Given the description of an element on the screen output the (x, y) to click on. 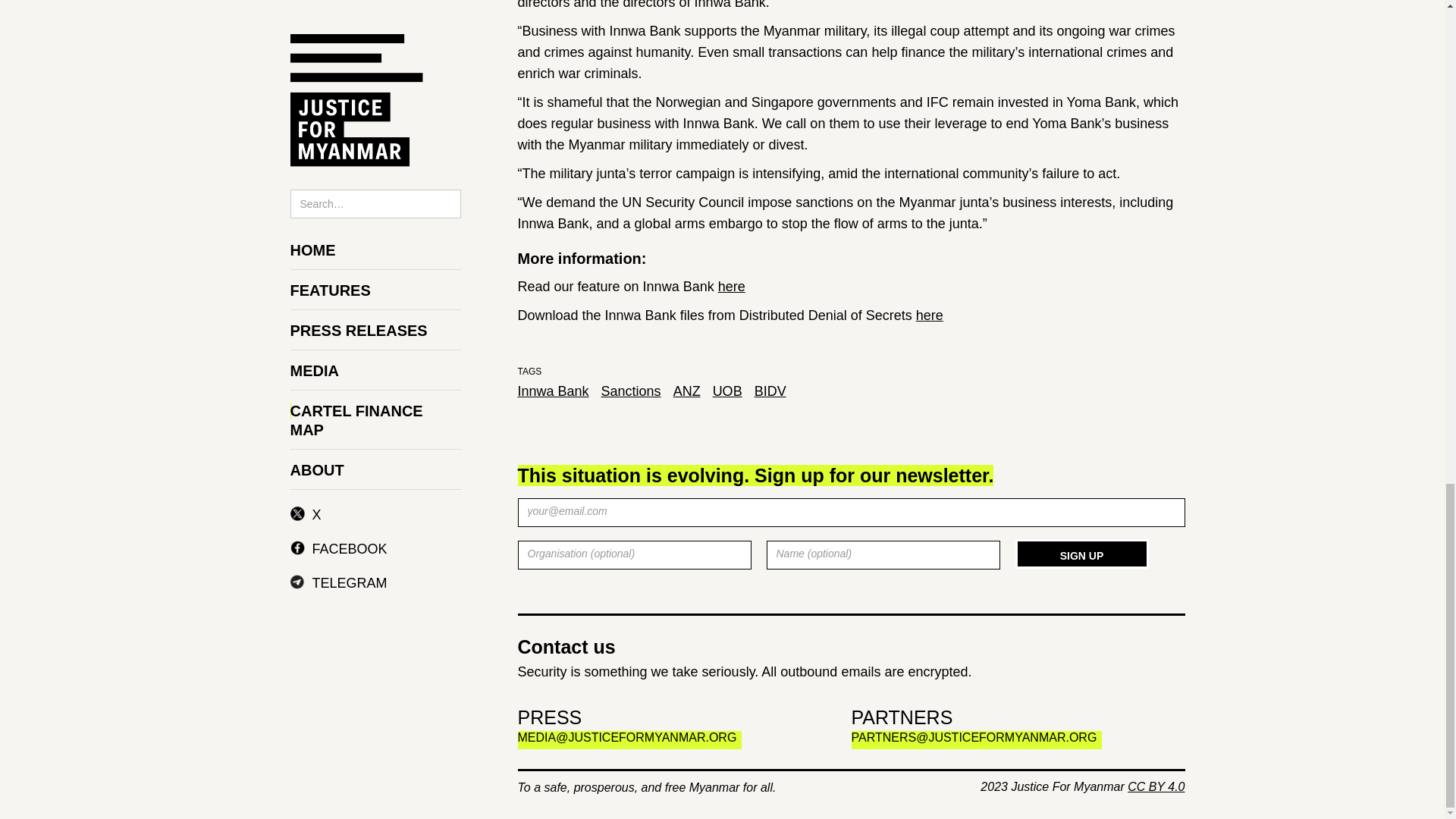
Sanctions (631, 391)
UOB (727, 391)
ANZ (686, 391)
here (731, 286)
CC BY 4.0 (1155, 786)
Sign Up (1081, 553)
here (929, 314)
BIDV (770, 391)
Sign Up (1081, 553)
Innwa Bank (552, 391)
